Given the description of an element on the screen output the (x, y) to click on. 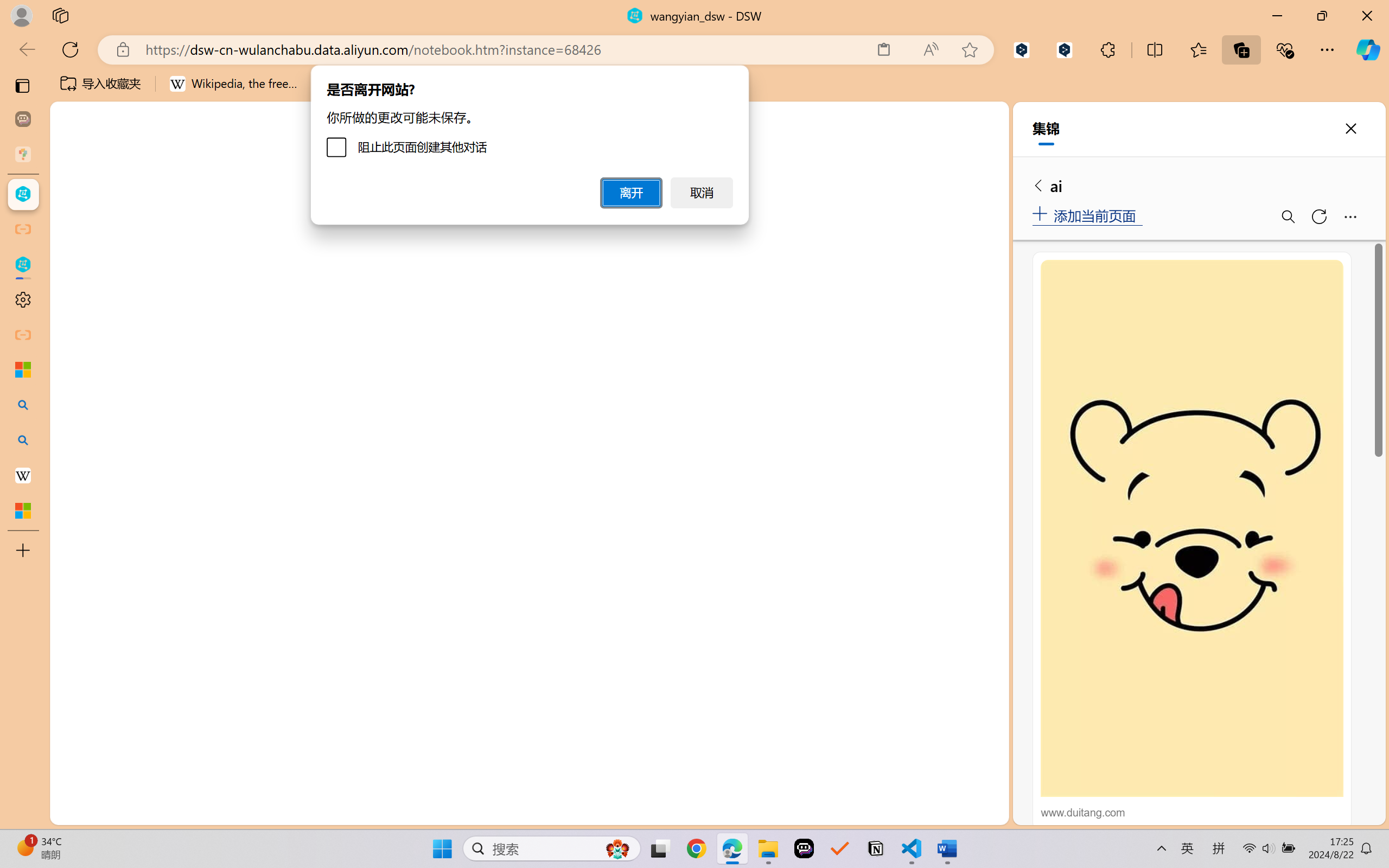
Close Panel (986, 193)
Terminal 1 bash (949, 221)
icon (930, 119)
Class: menubar compact overflow-menu-only (73, 194)
Run and Debug (Ctrl+Shift+D) (73, 375)
Application Menu (73, 194)
